Given the description of an element on the screen output the (x, y) to click on. 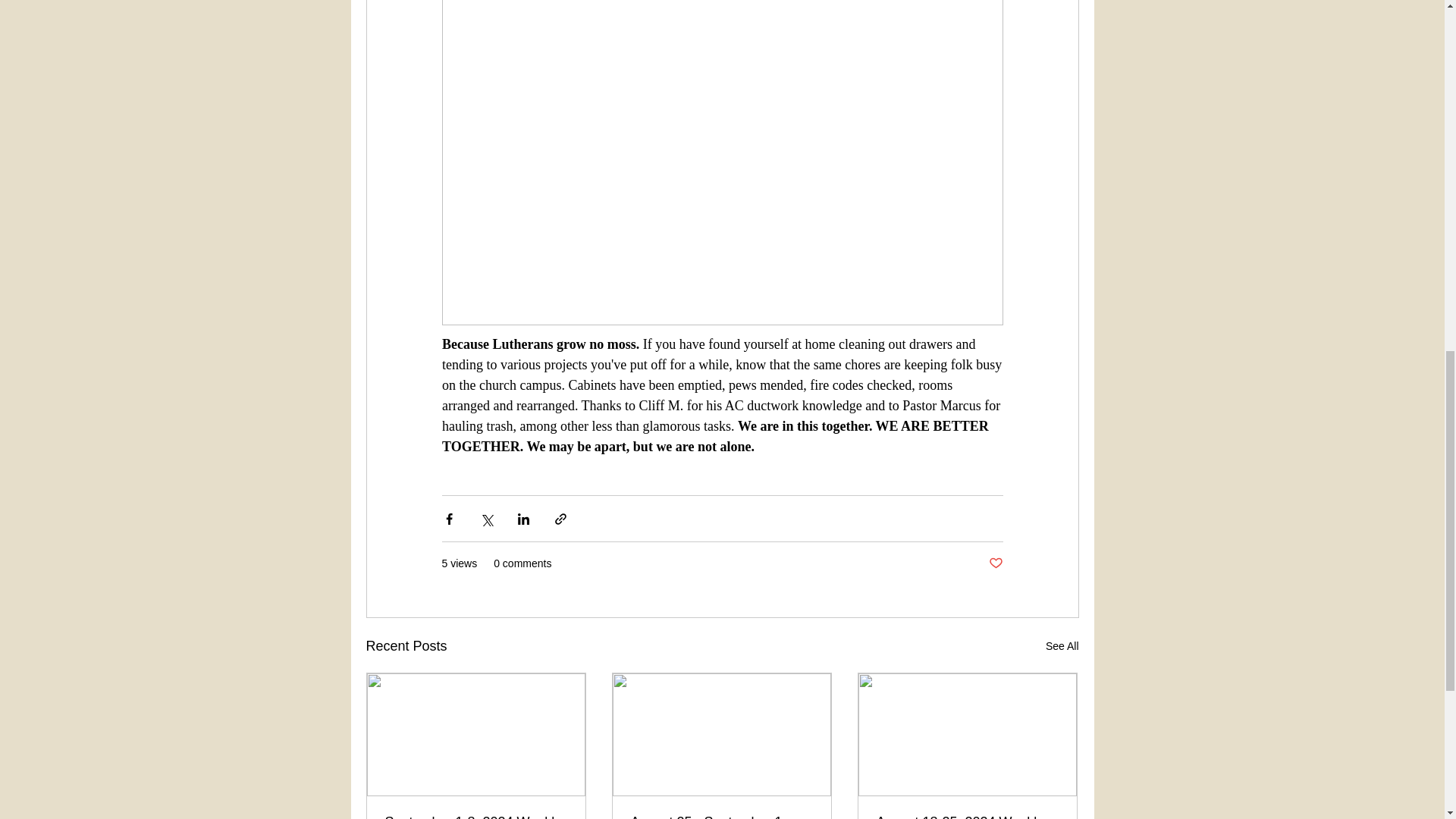
September 1-8, 2024 Weekly News (476, 816)
Post not marked as liked (995, 563)
See All (1061, 646)
